Given the description of an element on the screen output the (x, y) to click on. 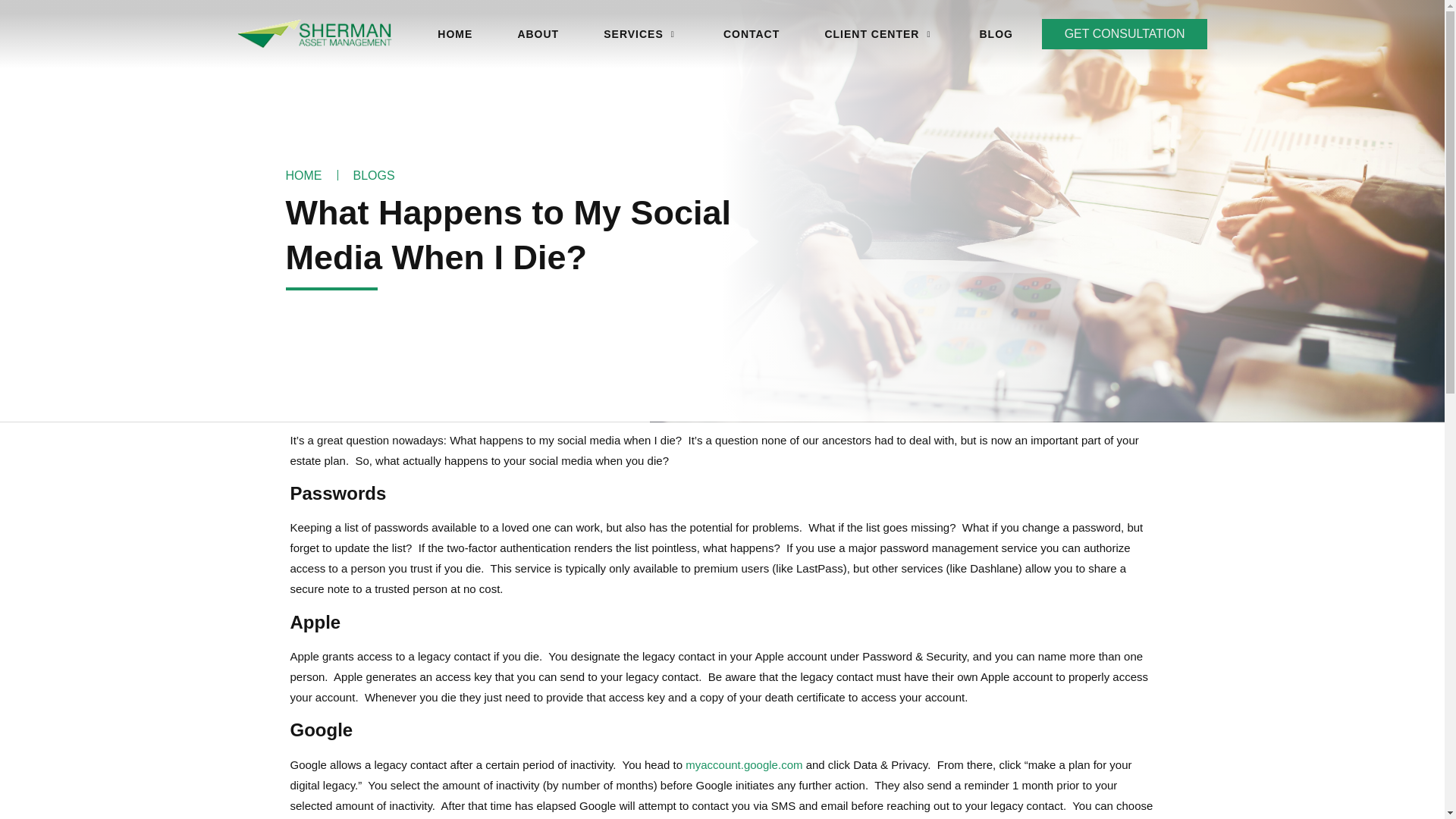
GET CONSULTATION (1125, 33)
HOME (303, 175)
ABOUT (537, 33)
CLIENT CENTER (879, 33)
BLOG (995, 33)
myaccount.google.com (743, 764)
HOME (454, 33)
CONTACT (750, 33)
BLOGS (373, 175)
SERVICES (641, 33)
